Given the description of an element on the screen output the (x, y) to click on. 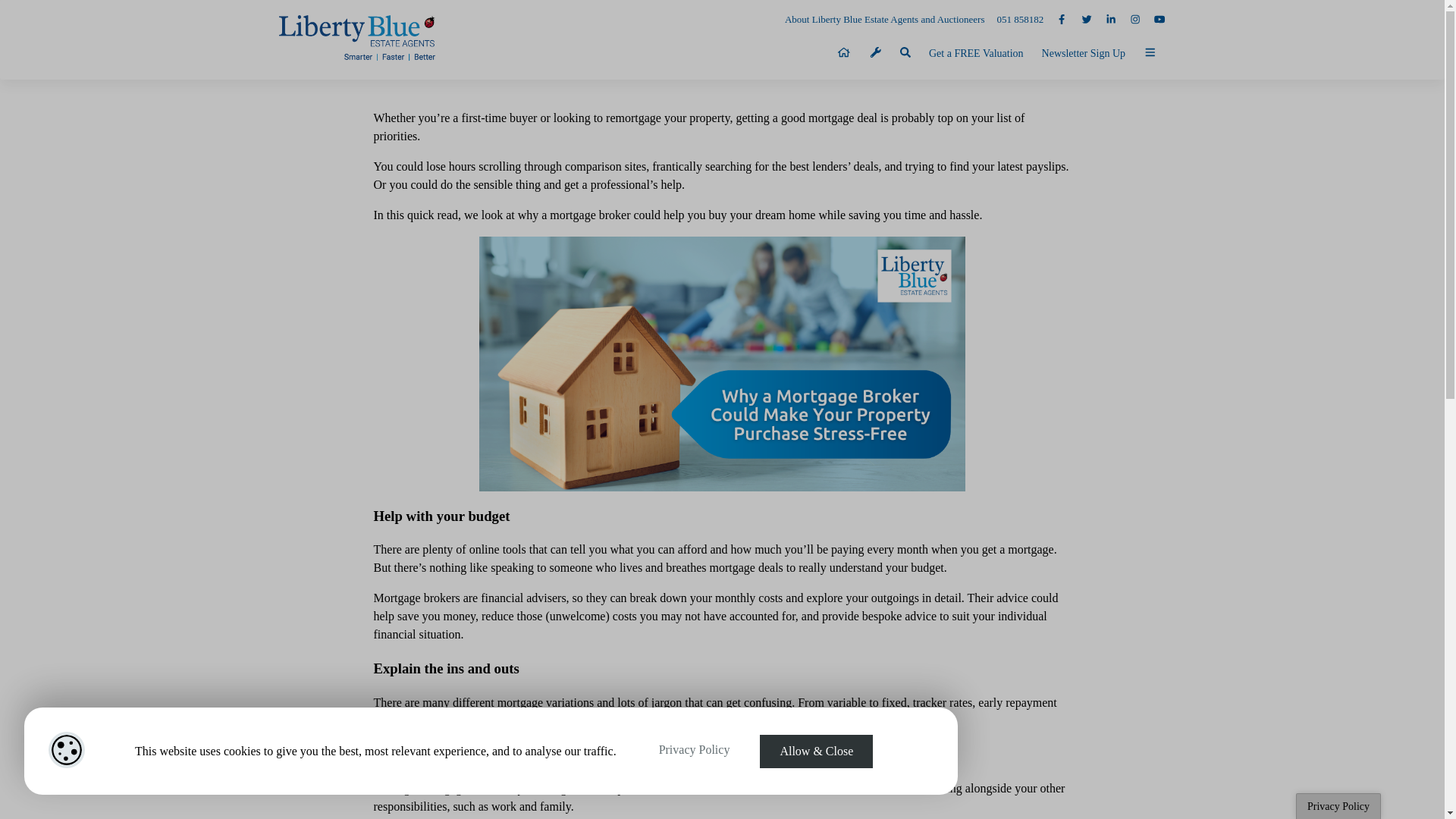
051 858182 (1013, 19)
LinkedIn (1104, 19)
Privacy Policy (694, 750)
comparison sites (605, 165)
Newsletter Sign Up (1083, 53)
About Liberty Blue Estate Agents and Auctioneers (879, 19)
YouTube (1153, 19)
Get a FREE Valuation (976, 53)
